Given the description of an element on the screen output the (x, y) to click on. 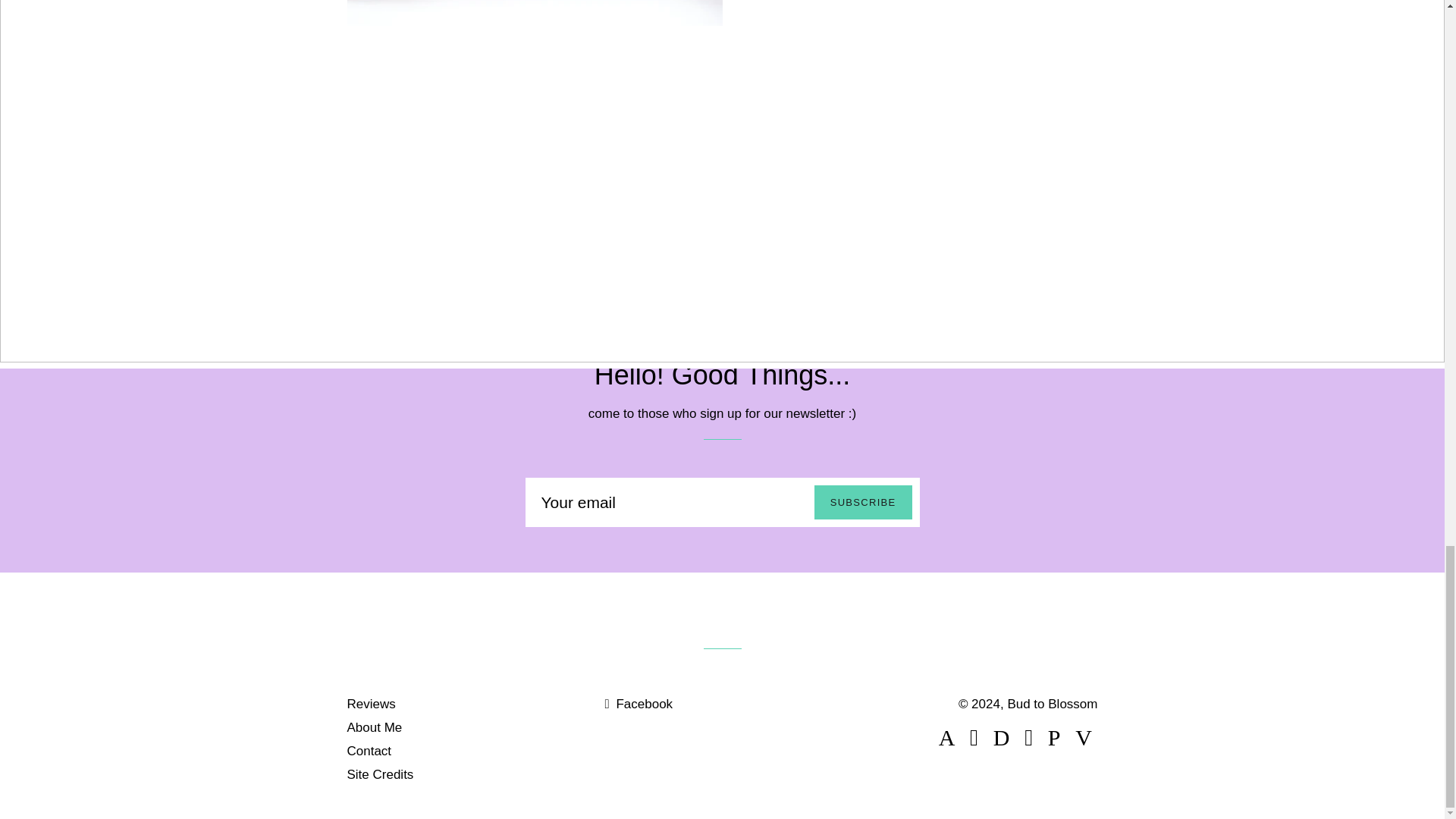
Site Credits (380, 774)
Bud to Blossom (1052, 703)
About Me (375, 727)
Read Reviews (884, 103)
Bud to Blossom on Facebook (638, 703)
Contact (369, 750)
SUBSCRIBE (862, 502)
Reviews (371, 703)
Facebook (638, 703)
Reviews (884, 103)
